Given the description of an element on the screen output the (x, y) to click on. 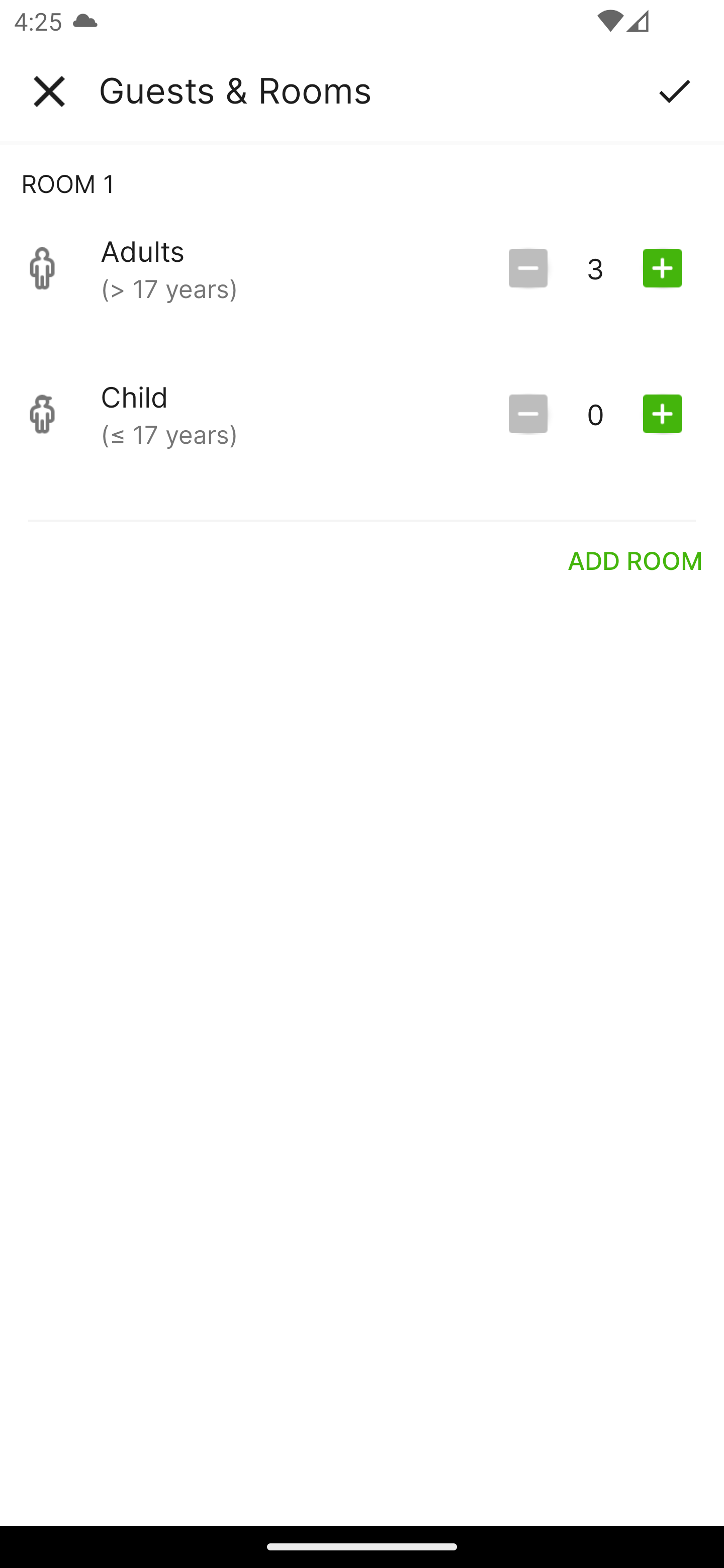
ADD ROOM (635, 560)
